Given the description of an element on the screen output the (x, y) to click on. 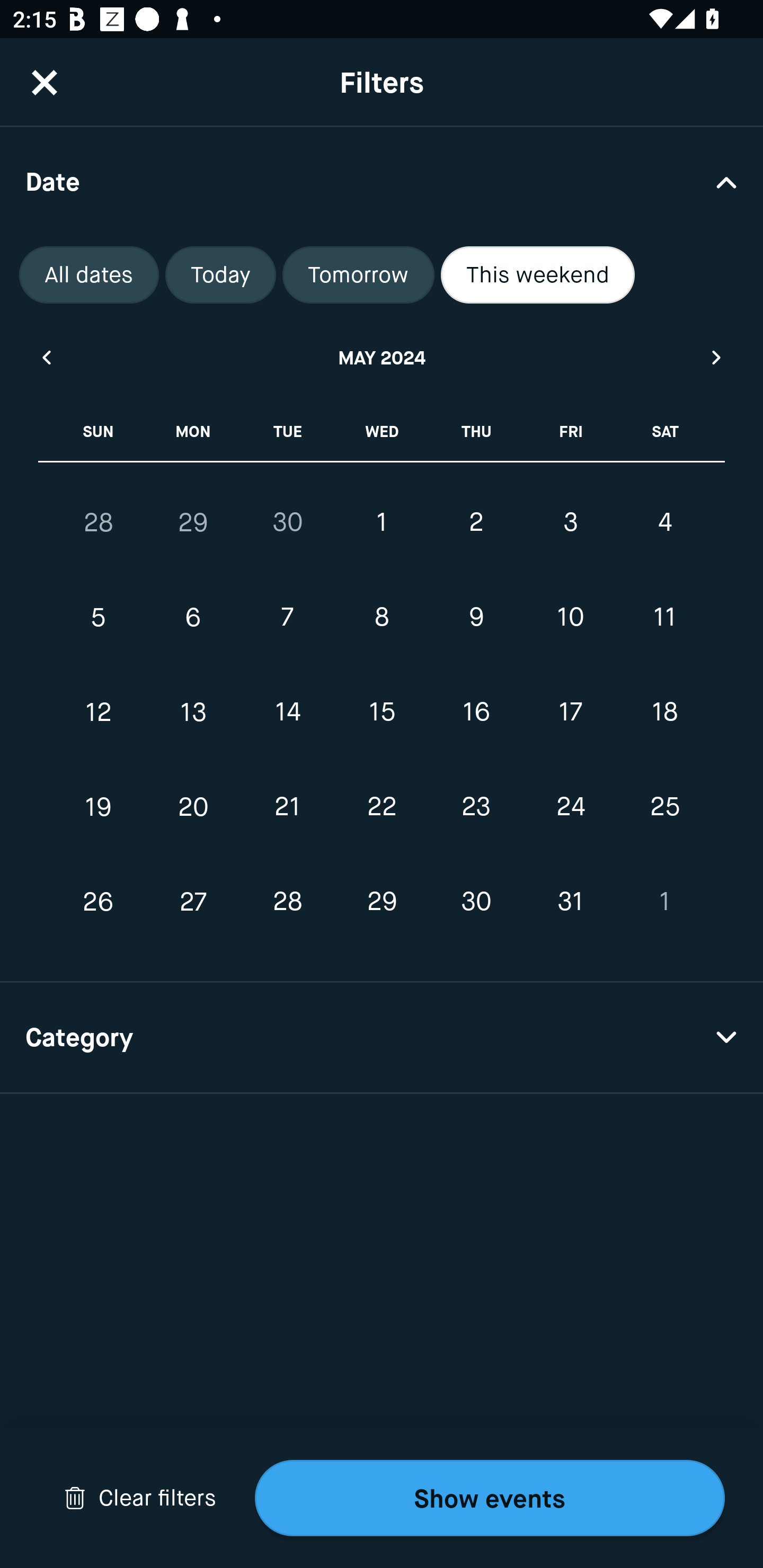
CloseButton (44, 82)
Date Drop Down Arrow (381, 181)
All dates (88, 274)
Today (220, 274)
Tomorrow (358, 274)
This weekend (537, 274)
Previous (45, 357)
Next (717, 357)
28 (98, 522)
29 (192, 522)
30 (287, 522)
1 (381, 522)
2 (475, 522)
3 (570, 522)
4 (664, 522)
5 (98, 617)
6 (192, 617)
7 (287, 617)
8 (381, 617)
9 (475, 617)
10 (570, 617)
11 (664, 617)
12 (98, 711)
13 (192, 711)
14 (287, 711)
15 (381, 711)
16 (475, 711)
17 (570, 711)
18 (664, 711)
19 (98, 806)
20 (192, 806)
21 (287, 806)
22 (381, 806)
23 (475, 806)
24 (570, 806)
25 (664, 806)
26 (98, 901)
27 (192, 901)
28 (287, 901)
29 (381, 901)
30 (475, 901)
31 (570, 901)
1 (664, 901)
Category Drop Down Arrow (381, 1038)
Drop Down Arrow Clear filters (139, 1497)
Show events (489, 1497)
